Given the description of an element on the screen output the (x, y) to click on. 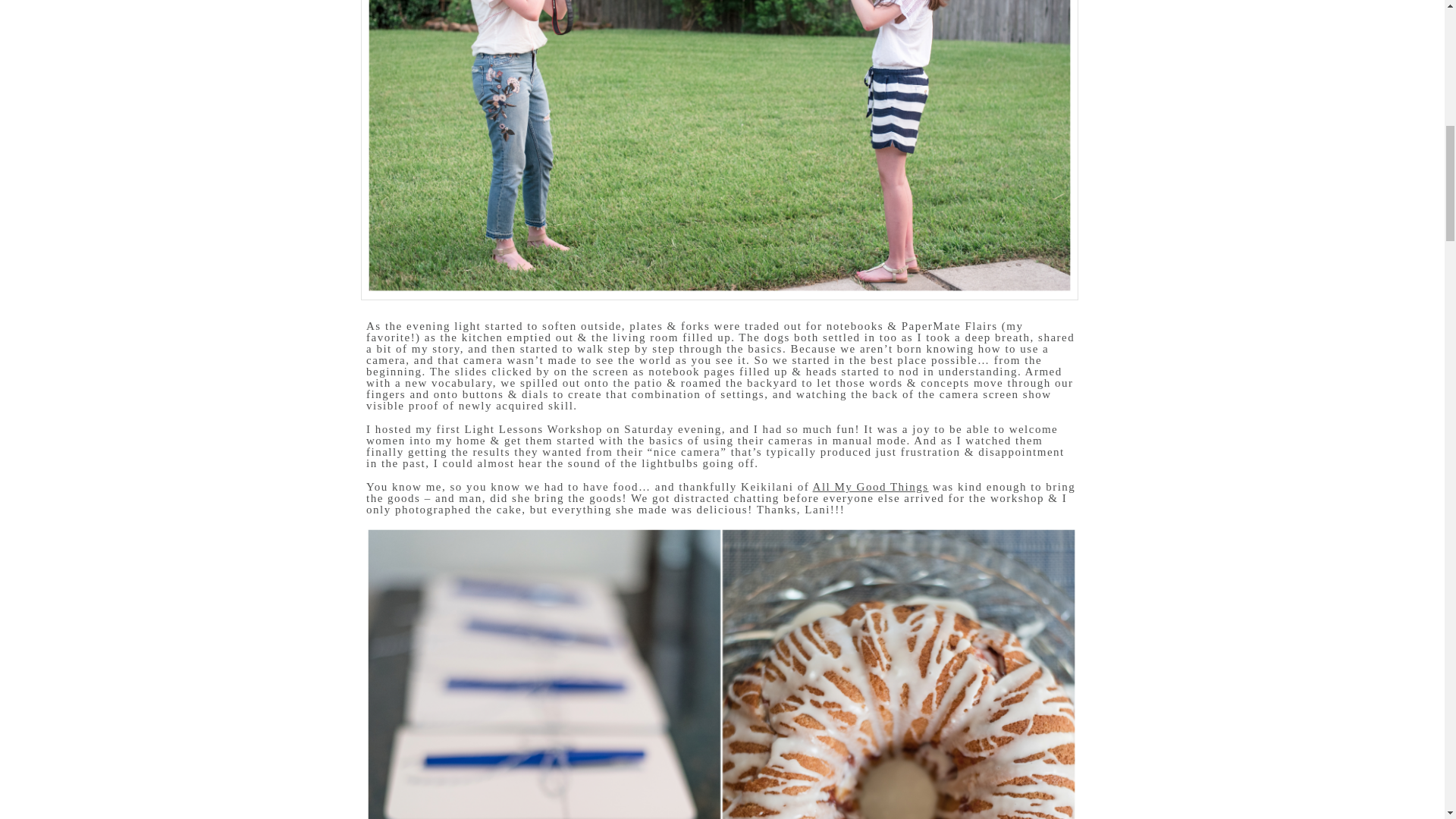
All My Good Things (870, 486)
